Given the description of an element on the screen output the (x, y) to click on. 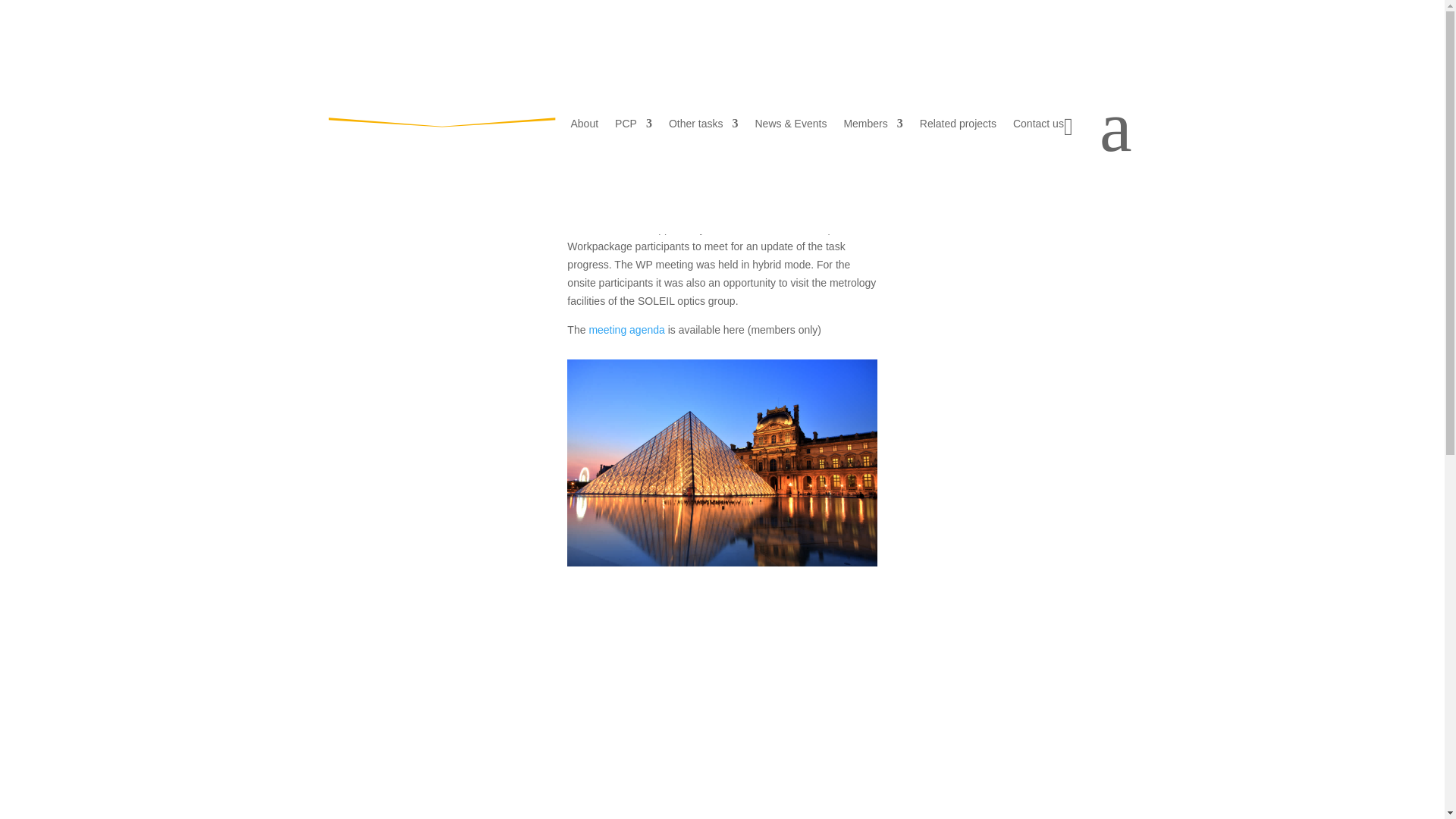
Members (872, 126)
Other tasks (703, 126)
PCP (633, 126)
logo-white (440, 137)
About (584, 126)
Louvre (721, 462)
Contact us (1038, 126)
Related projects (957, 126)
